Given the description of an element on the screen output the (x, y) to click on. 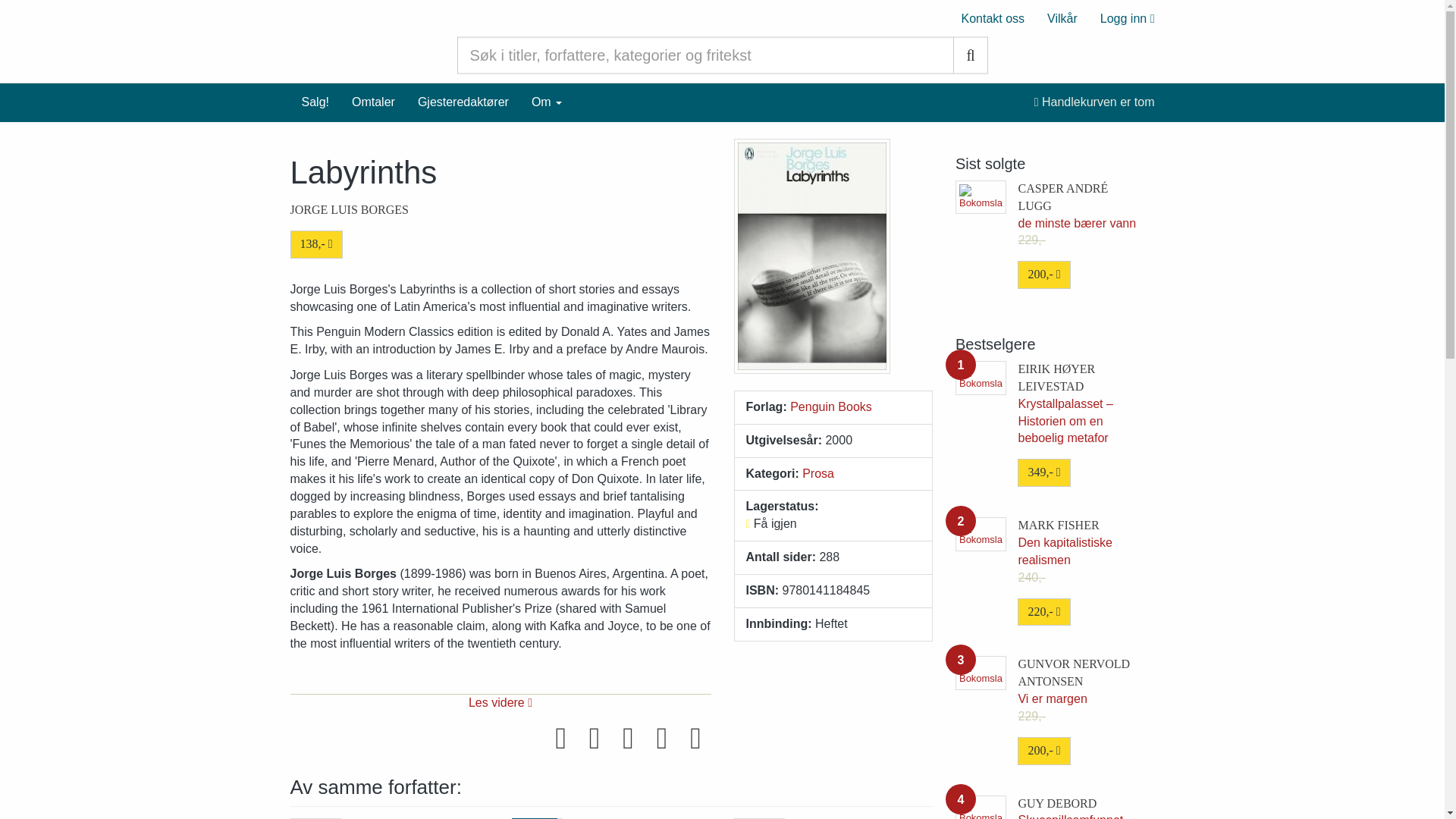
Kontakt oss (992, 18)
Vi er margen (1073, 672)
Om (546, 102)
Den kapitalistiske realismen (1058, 524)
138,- (315, 244)
Penguin Books (831, 406)
JORGE LUIS BORGES (348, 209)
Prosa (818, 472)
Salg! (314, 102)
Den kapitalistiske realismen (1064, 551)
Omtaler (373, 102)
Les videre (500, 702)
Logg inn (1127, 18)
